Given the description of an element on the screen output the (x, y) to click on. 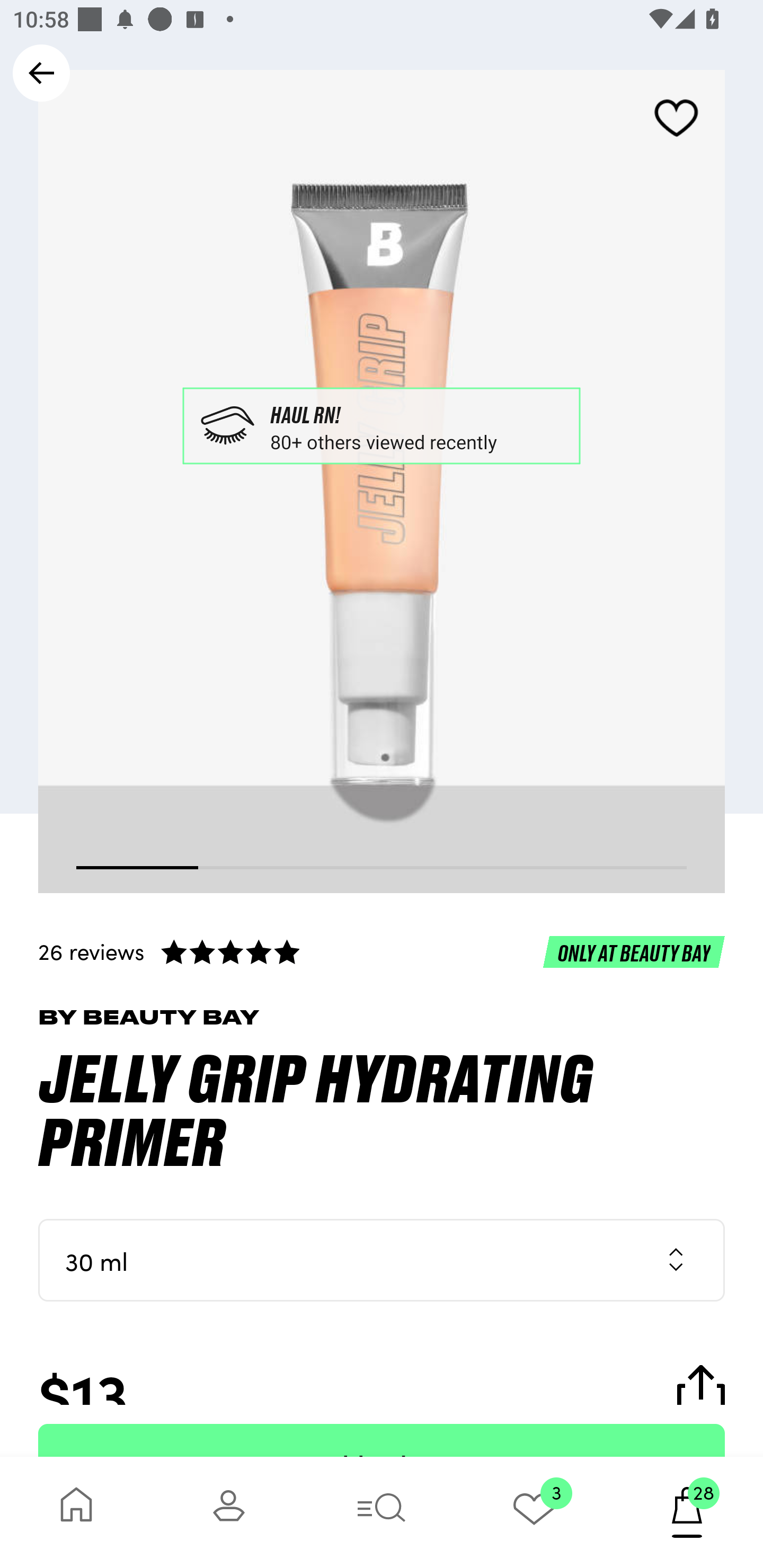
26 reviews (381, 950)
30 ml  (381, 1259)
3 (533, 1512)
28 (686, 1512)
